Given the description of an element on the screen output the (x, y) to click on. 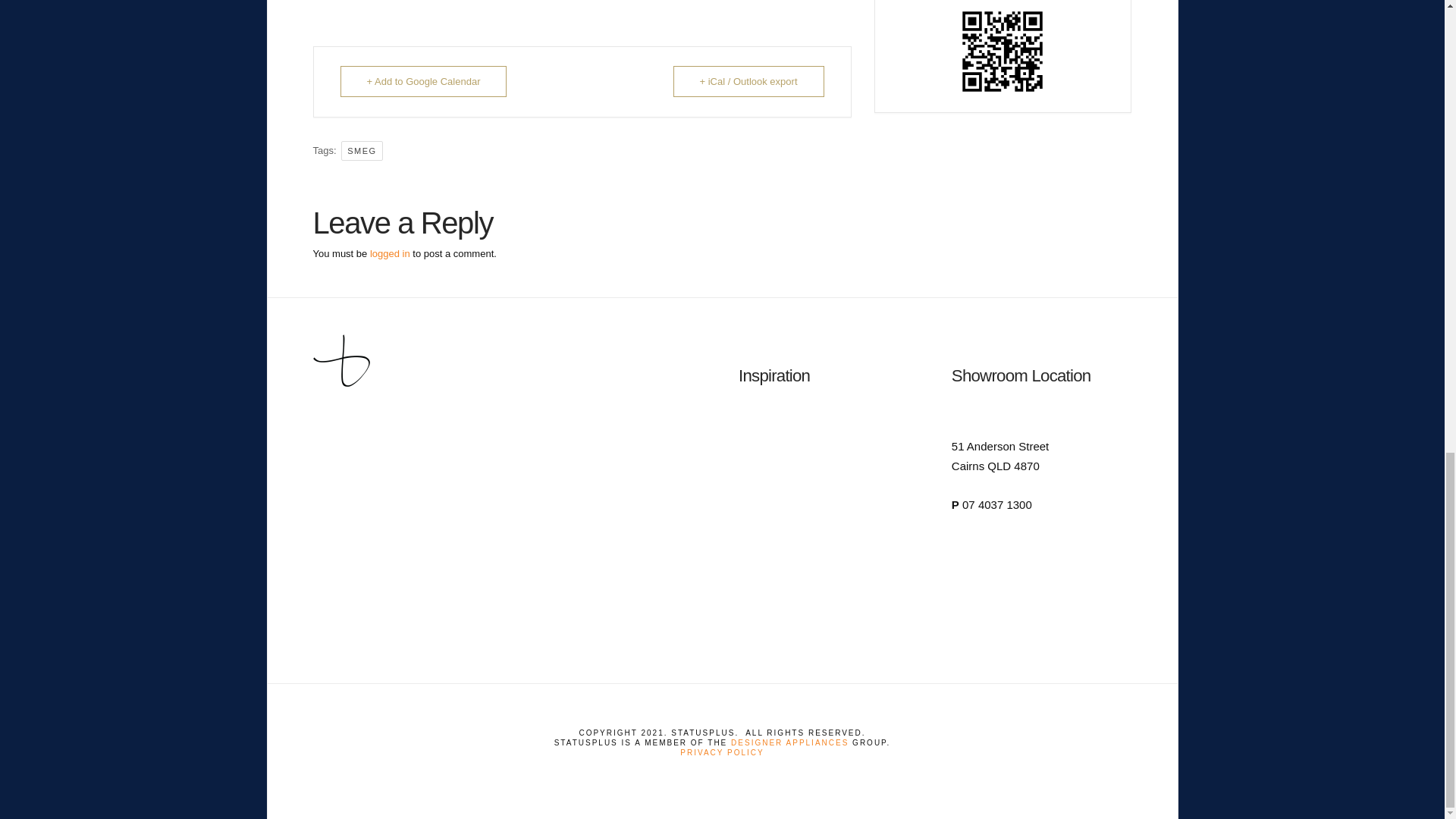
logged in (389, 253)
SMEG (360, 150)
